Given the description of an element on the screen output the (x, y) to click on. 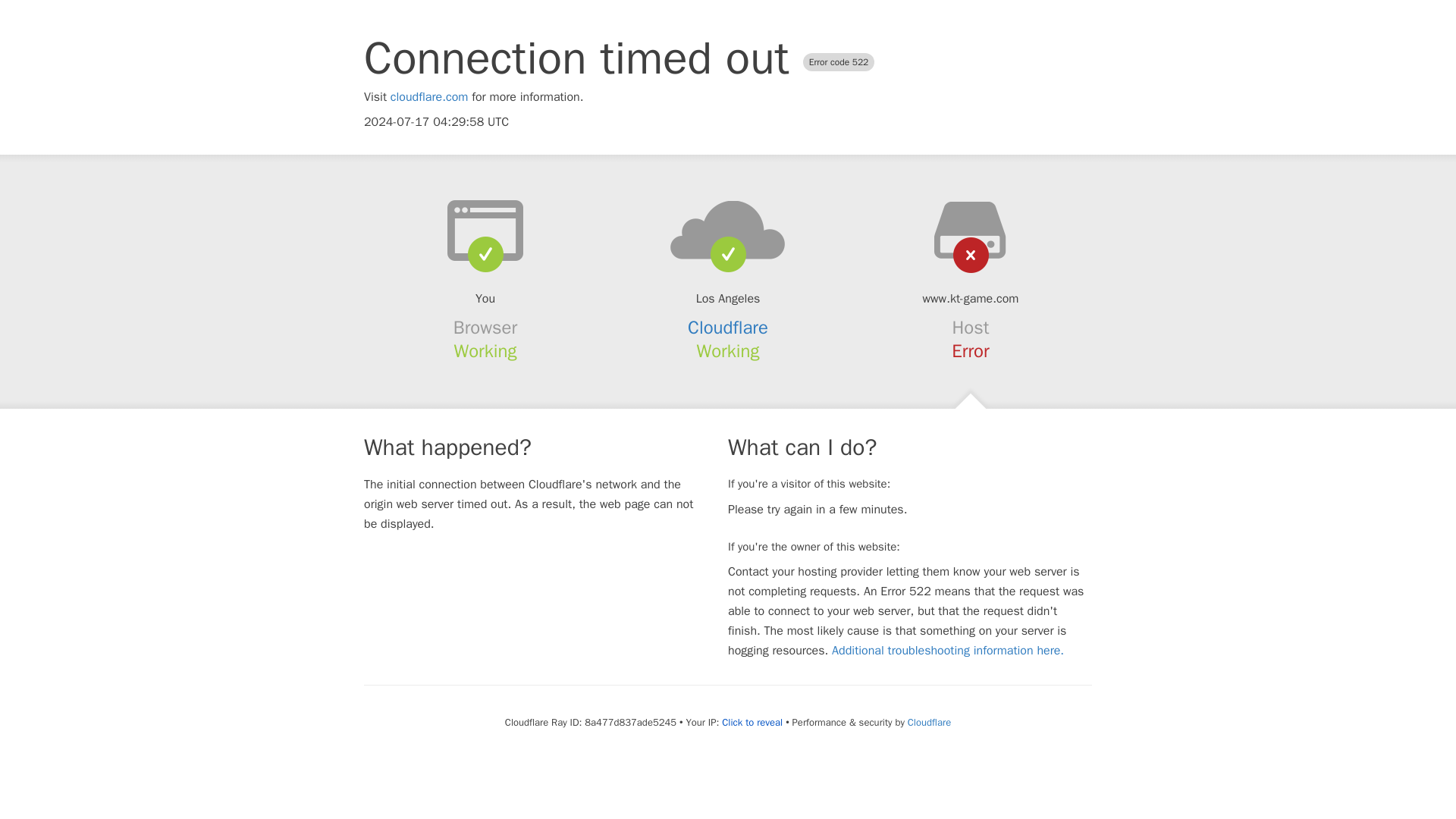
cloudflare.com (429, 96)
Cloudflare (727, 327)
Cloudflare (928, 721)
Additional troubleshooting information here. (947, 650)
Click to reveal (752, 722)
